Given the description of an element on the screen output the (x, y) to click on. 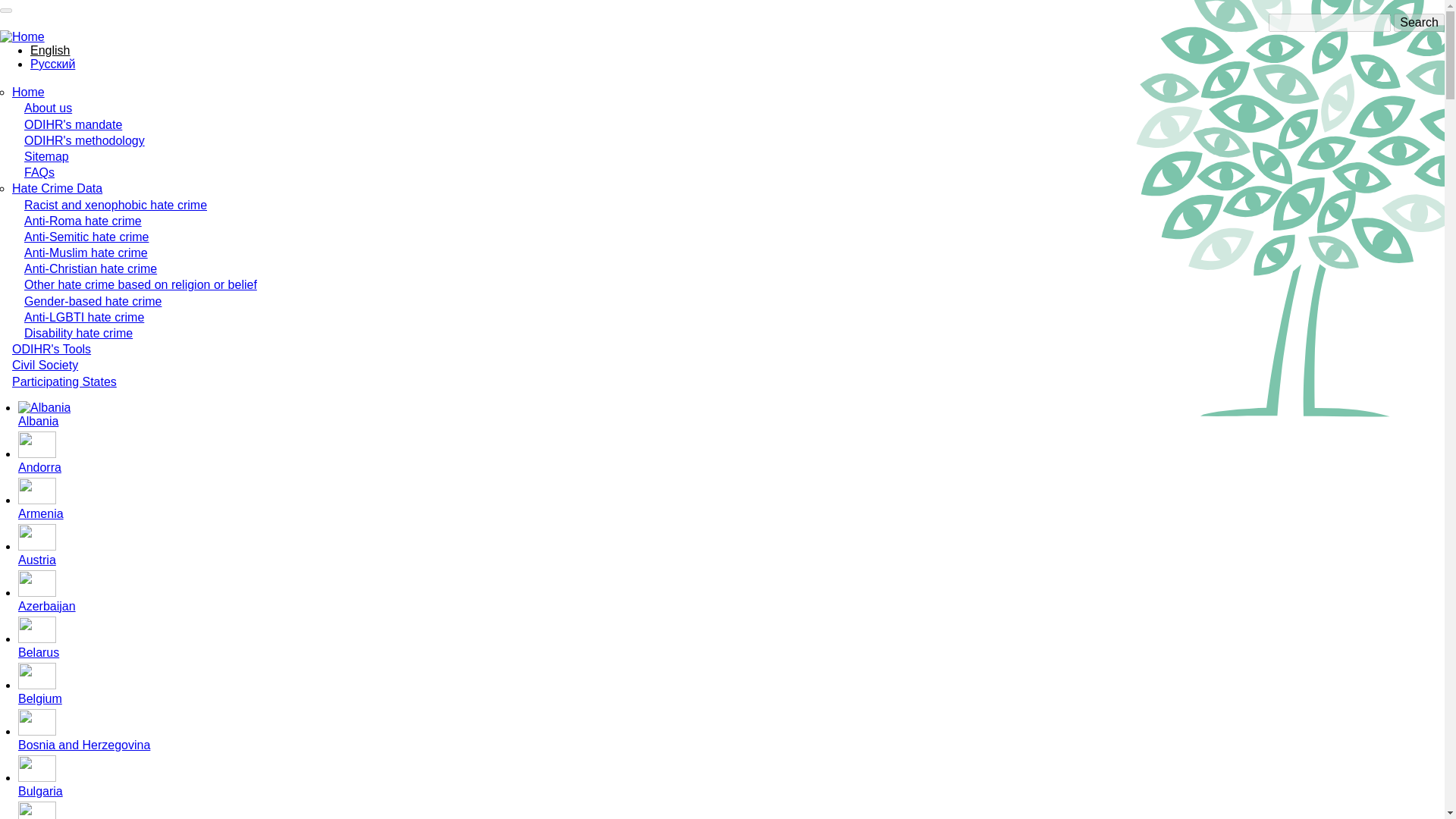
Disability hate crime (78, 332)
Anti-LGBTI hate crime (84, 317)
Anti-Semitic hate crime (86, 236)
Anti-Muslim hate crime (86, 252)
Participating States (63, 381)
Anti-Roma hate crime (82, 220)
Racist and xenophobic hate crime (115, 205)
ODIHR's Tools (50, 349)
FAQs (39, 172)
Other hate crime based on religion or belief (140, 284)
